Given the description of an element on the screen output the (x, y) to click on. 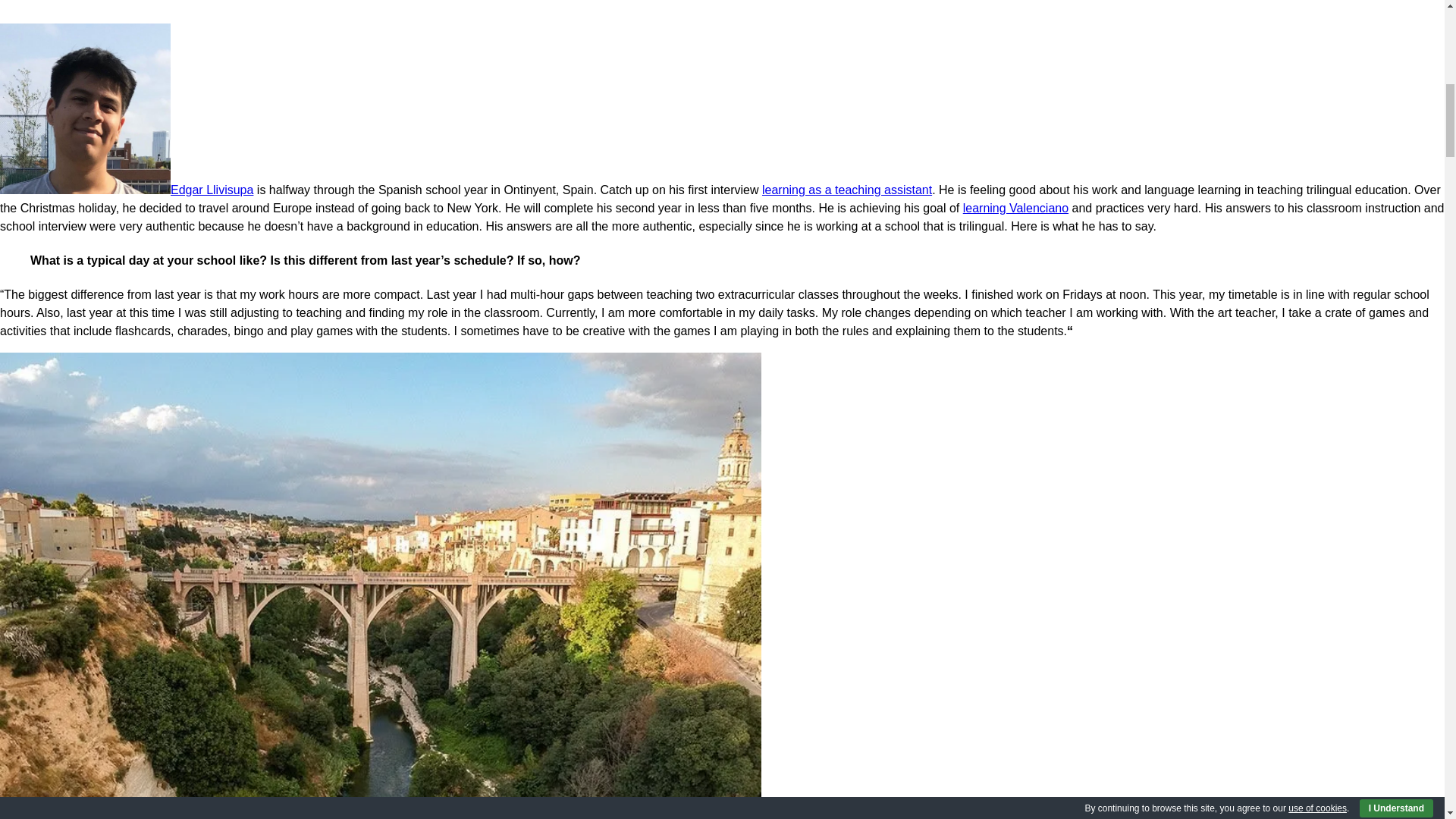
edgar llivisupa (85, 108)
learning as a teaching assistant (846, 189)
Edgar Llivisupa (126, 189)
learning Valenciano (1015, 207)
